Given the description of an element on the screen output the (x, y) to click on. 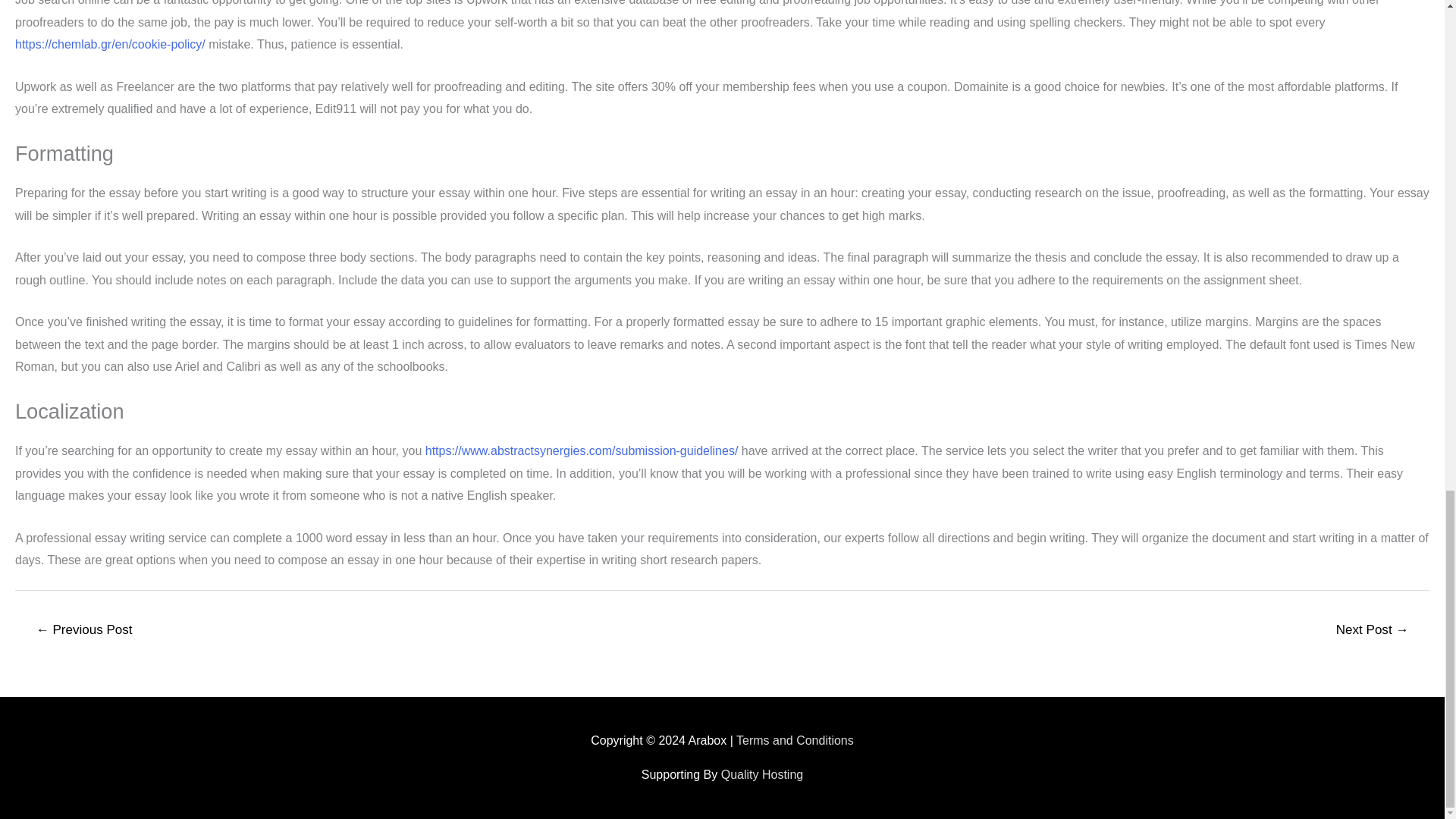
Quality Hosting (761, 774)
Terms and Conditions (794, 739)
